Given the description of an element on the screen output the (x, y) to click on. 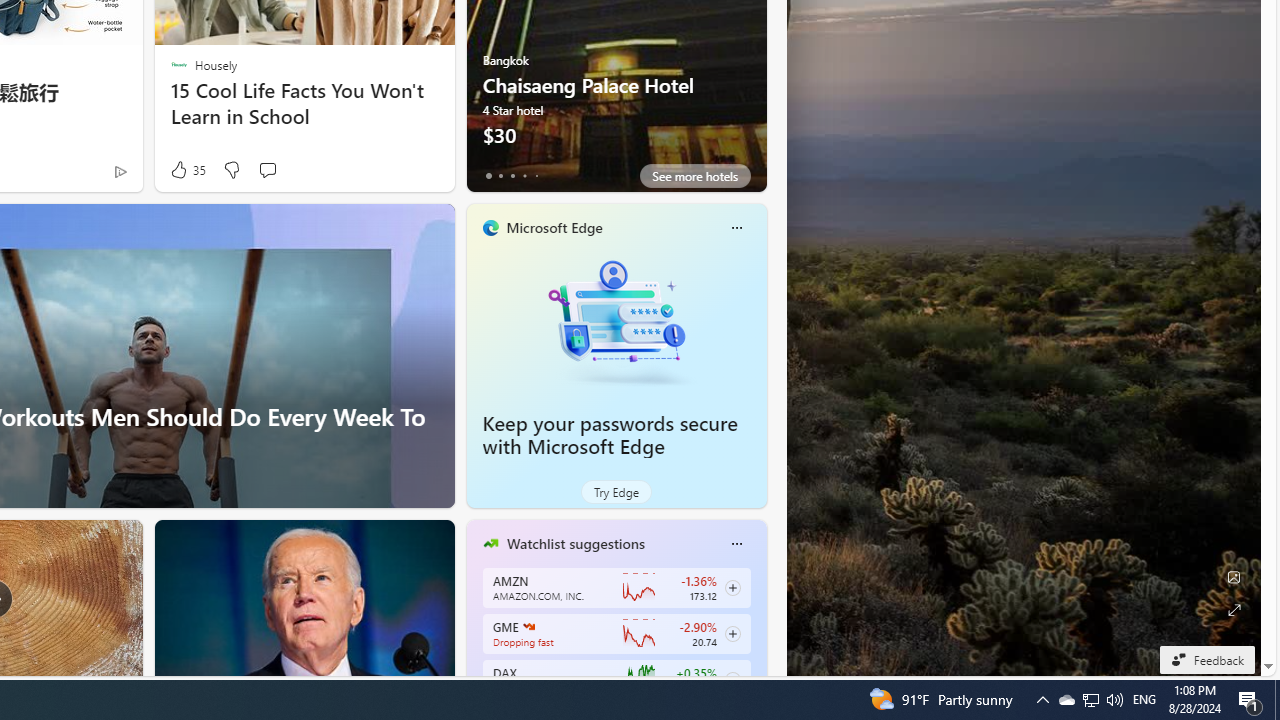
Watchlist suggestions (575, 543)
tab-0 (488, 175)
tab-2 (511, 175)
Try Edge (616, 491)
tab-3 (524, 175)
GAMESTOP CORP. (528, 626)
35 Like (186, 170)
tab-4 (535, 175)
